Given the description of an element on the screen output the (x, y) to click on. 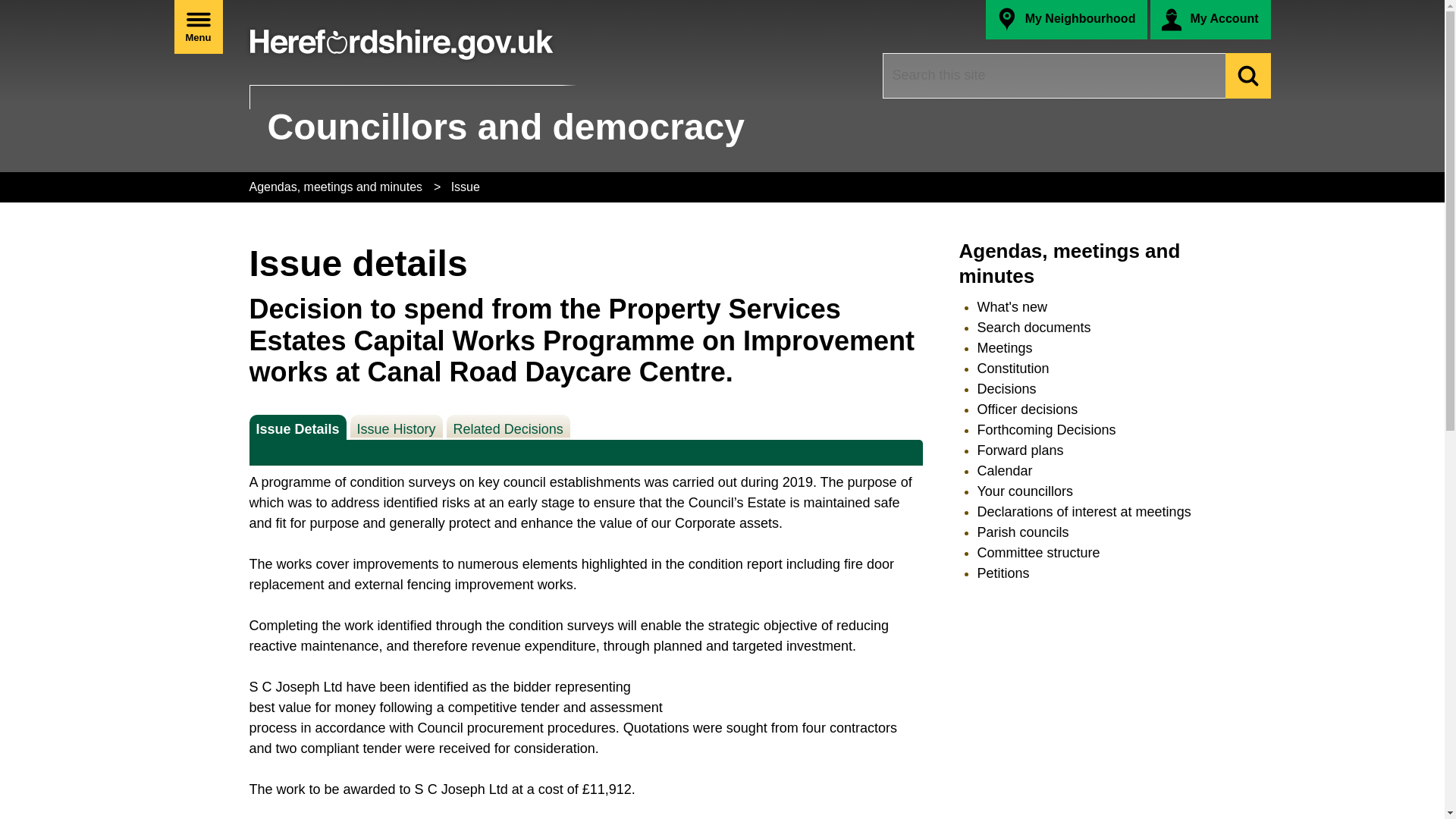
Link to Petitions (1002, 572)
Issue Details (297, 426)
Search (1248, 75)
What's new (1011, 306)
My Account (1209, 19)
Herefordshire (401, 37)
Link to information about committee meetings (1004, 347)
Link to Forward Plans (1019, 450)
Link to Constitution (1012, 368)
